Given the description of an element on the screen output the (x, y) to click on. 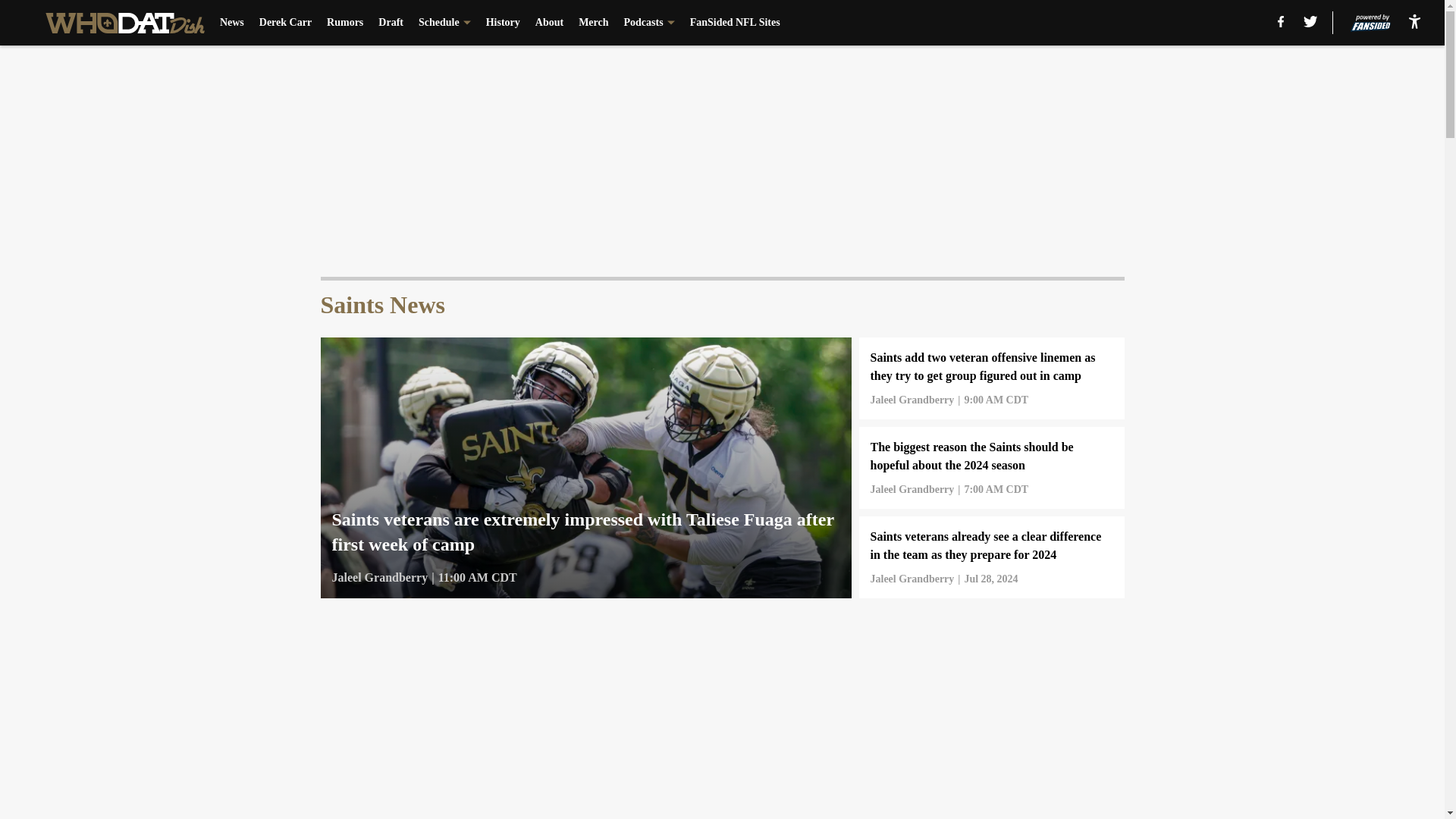
News (231, 22)
Derek Carr (285, 22)
Jaleel Grandberry (912, 489)
Jaleel Grandberry (912, 400)
Merch (593, 22)
Rumors (344, 22)
Jaleel Grandberry (912, 579)
History (502, 22)
FanSided NFL Sites (735, 22)
Jaleel Grandberry (379, 577)
Draft (390, 22)
About (549, 22)
